Given the description of an element on the screen output the (x, y) to click on. 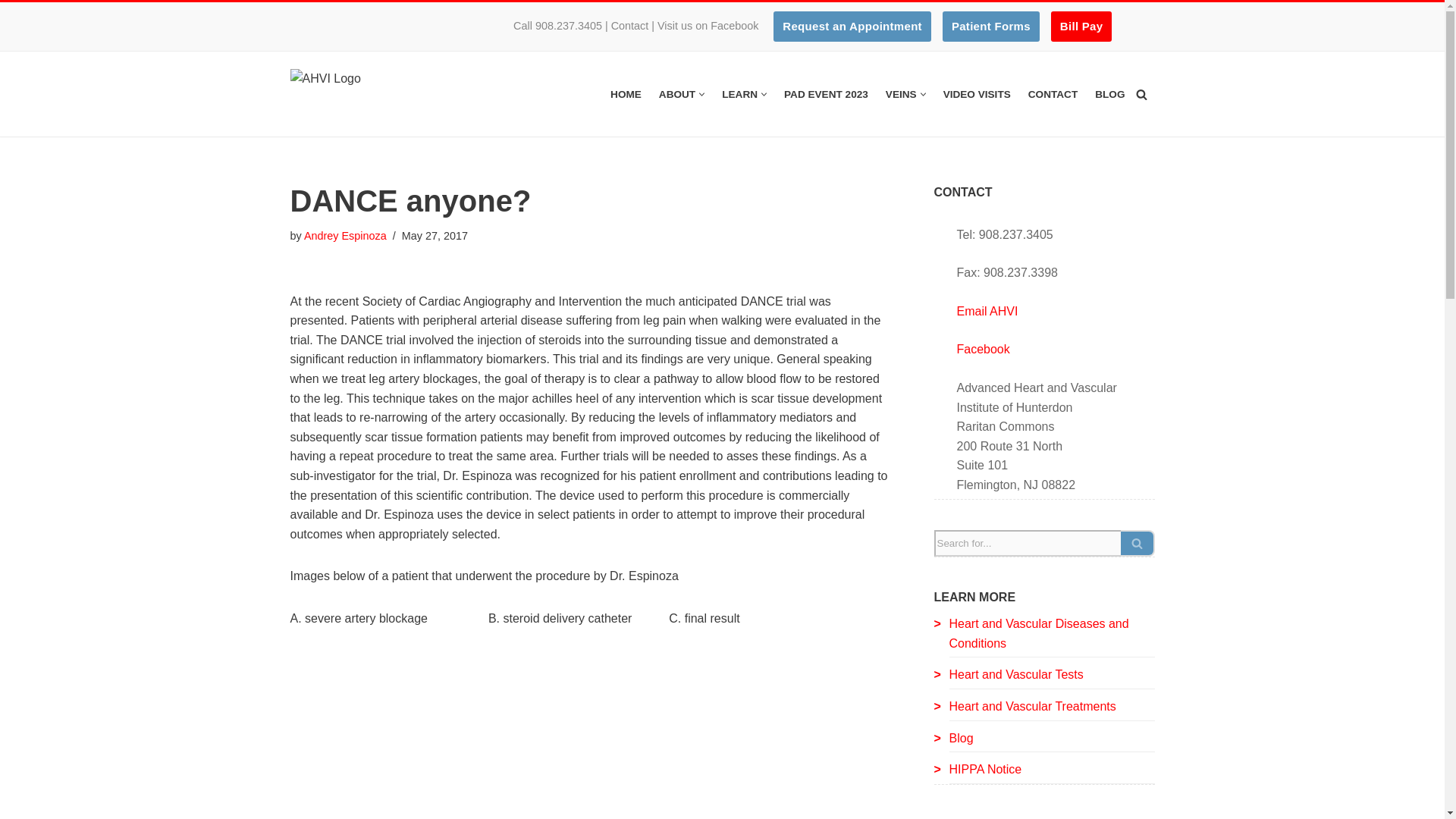
Bill Pay (1081, 26)
HOME (626, 94)
Patient Forms (990, 26)
VEINS (901, 94)
Contact (630, 25)
PAD EVENT 2023 (825, 94)
Skip to content (11, 31)
LEARN (739, 94)
Request an Appointment (852, 26)
Posts by Andrey Espinoza (345, 235)
CONTACT (1052, 94)
ABOUT (677, 94)
BLOG (1109, 94)
VIDEO VISITS (976, 94)
